Given the description of an element on the screen output the (x, y) to click on. 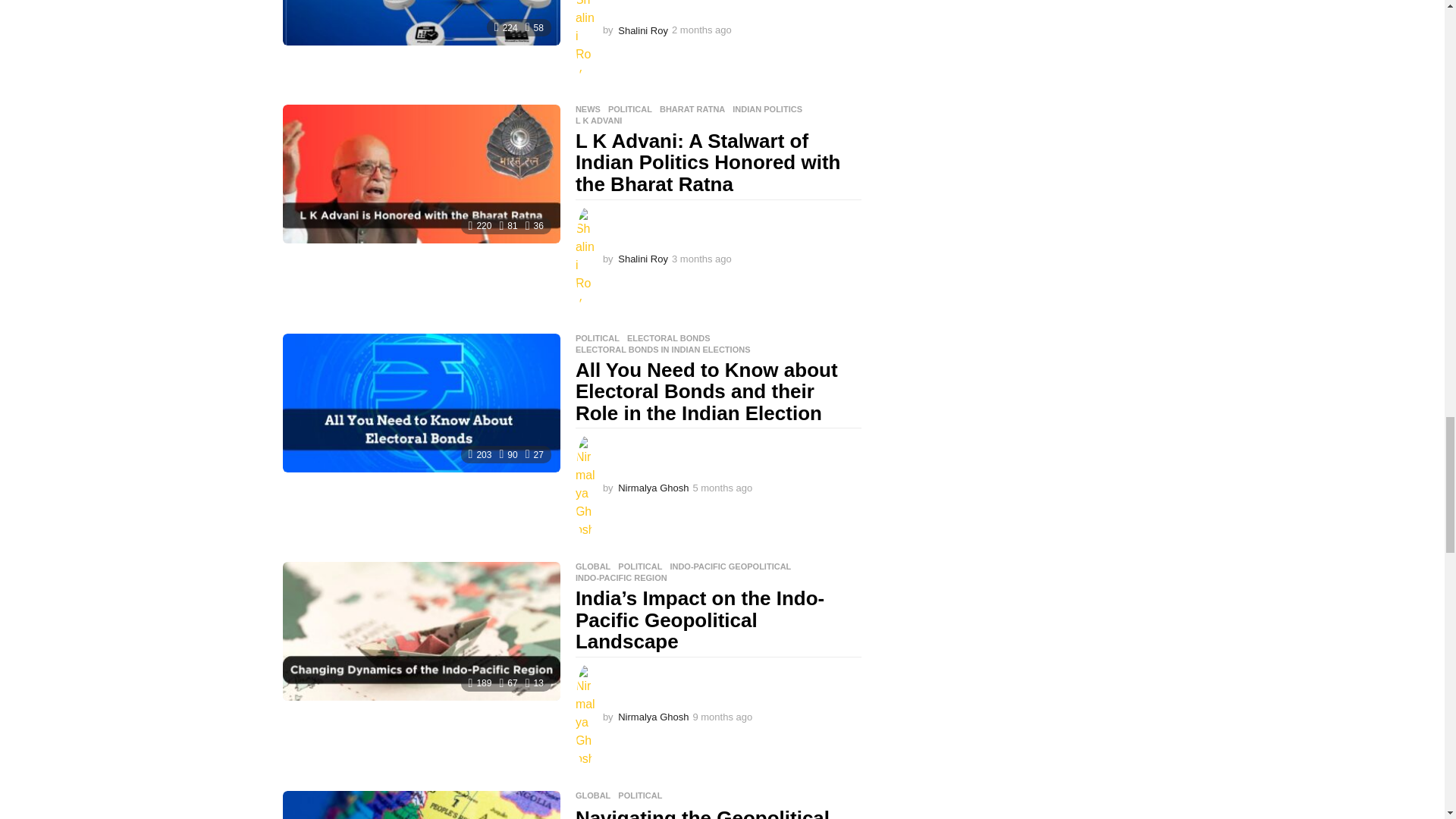
Geopolitical Issues and Supply Chain Disruptions (420, 22)
